Given the description of an element on the screen output the (x, y) to click on. 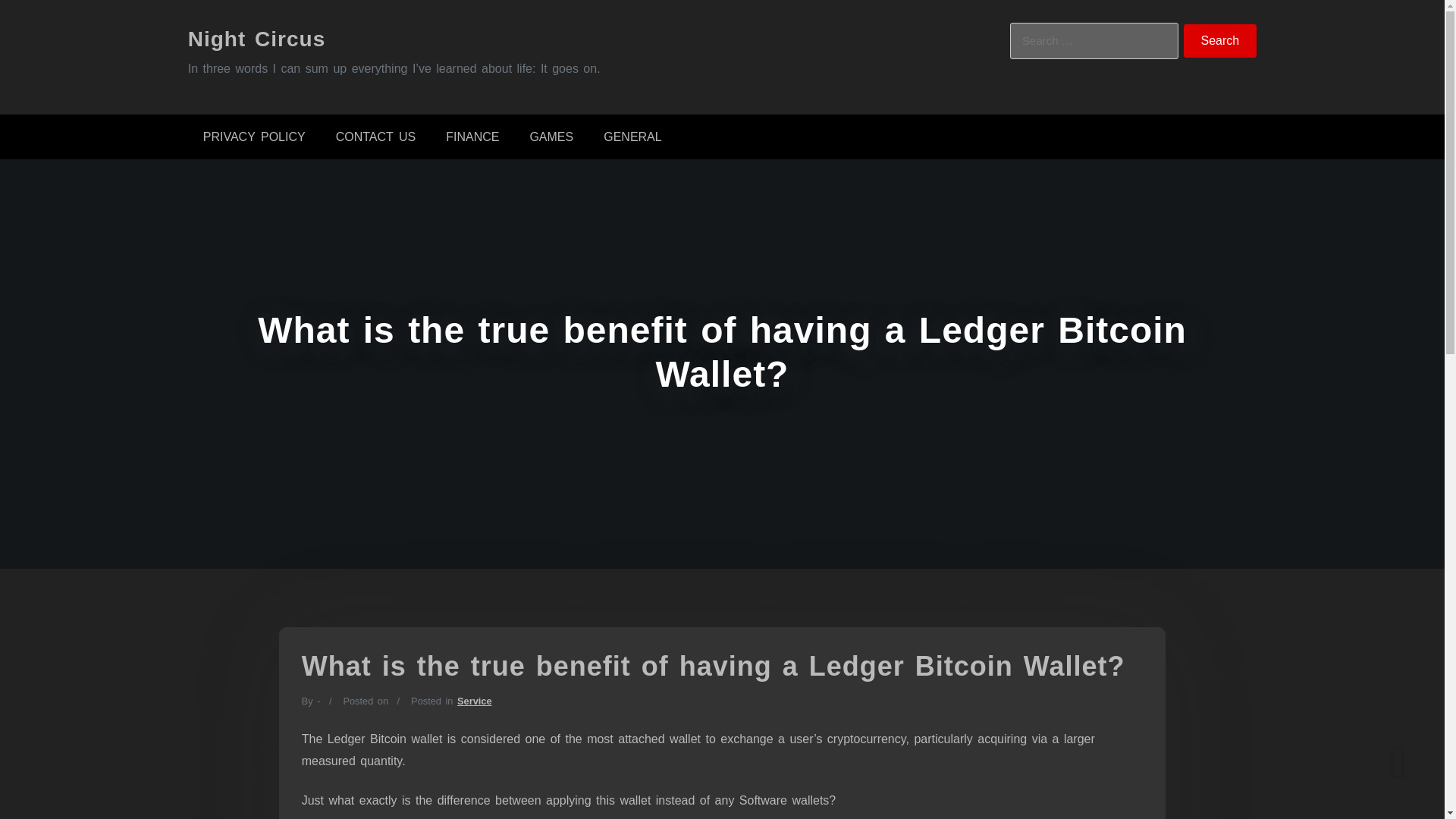
Service (474, 700)
FINANCE (471, 136)
GENERAL (632, 136)
PRIVACY POLICY (253, 136)
Night Circus (255, 38)
Search (1220, 40)
GAMES (550, 136)
Search (1220, 40)
CONTACT US (375, 136)
Search (1220, 40)
